Given the description of an element on the screen output the (x, y) to click on. 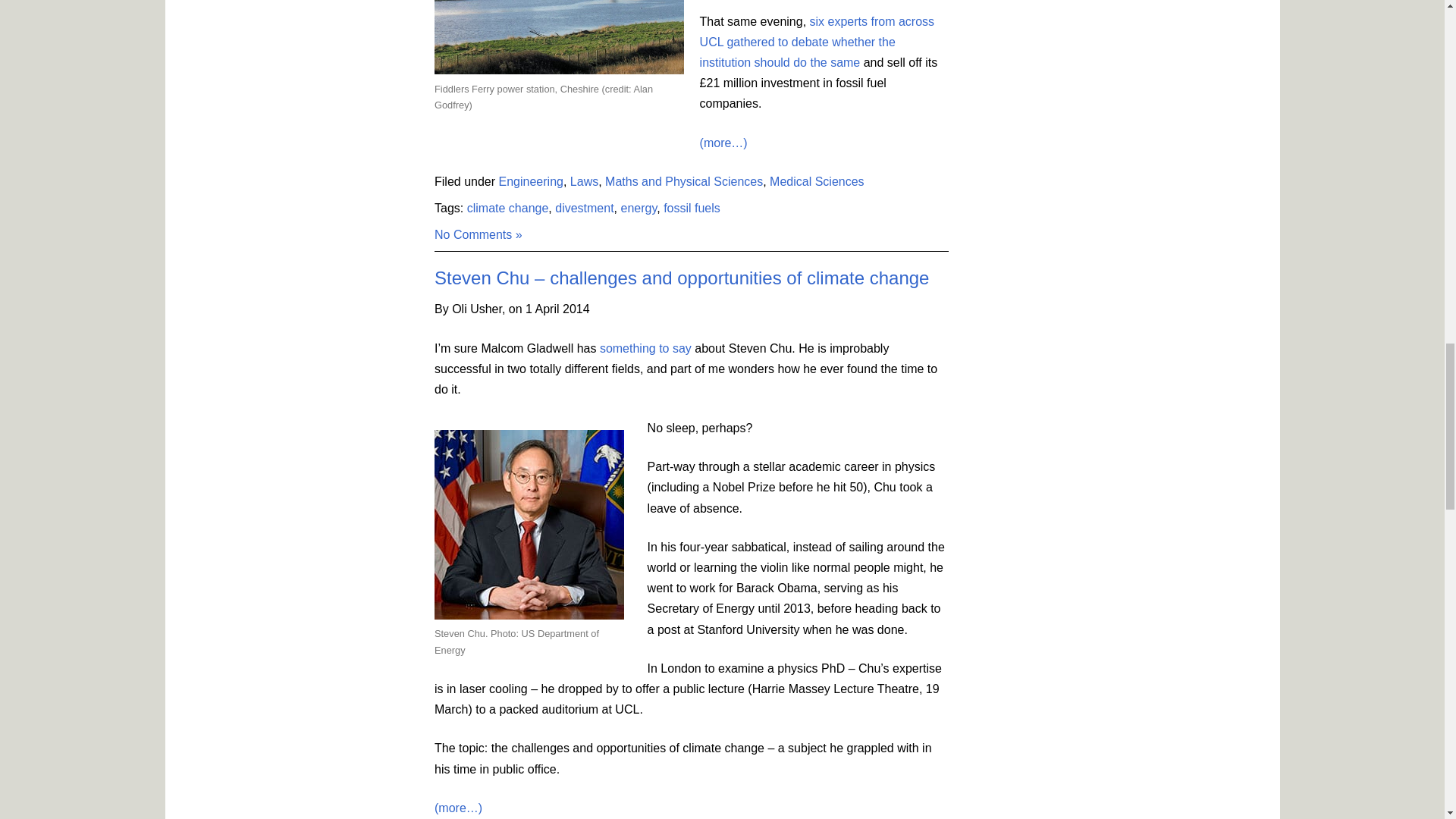
Laws (584, 181)
Engineering (531, 181)
